Given the description of an element on the screen output the (x, y) to click on. 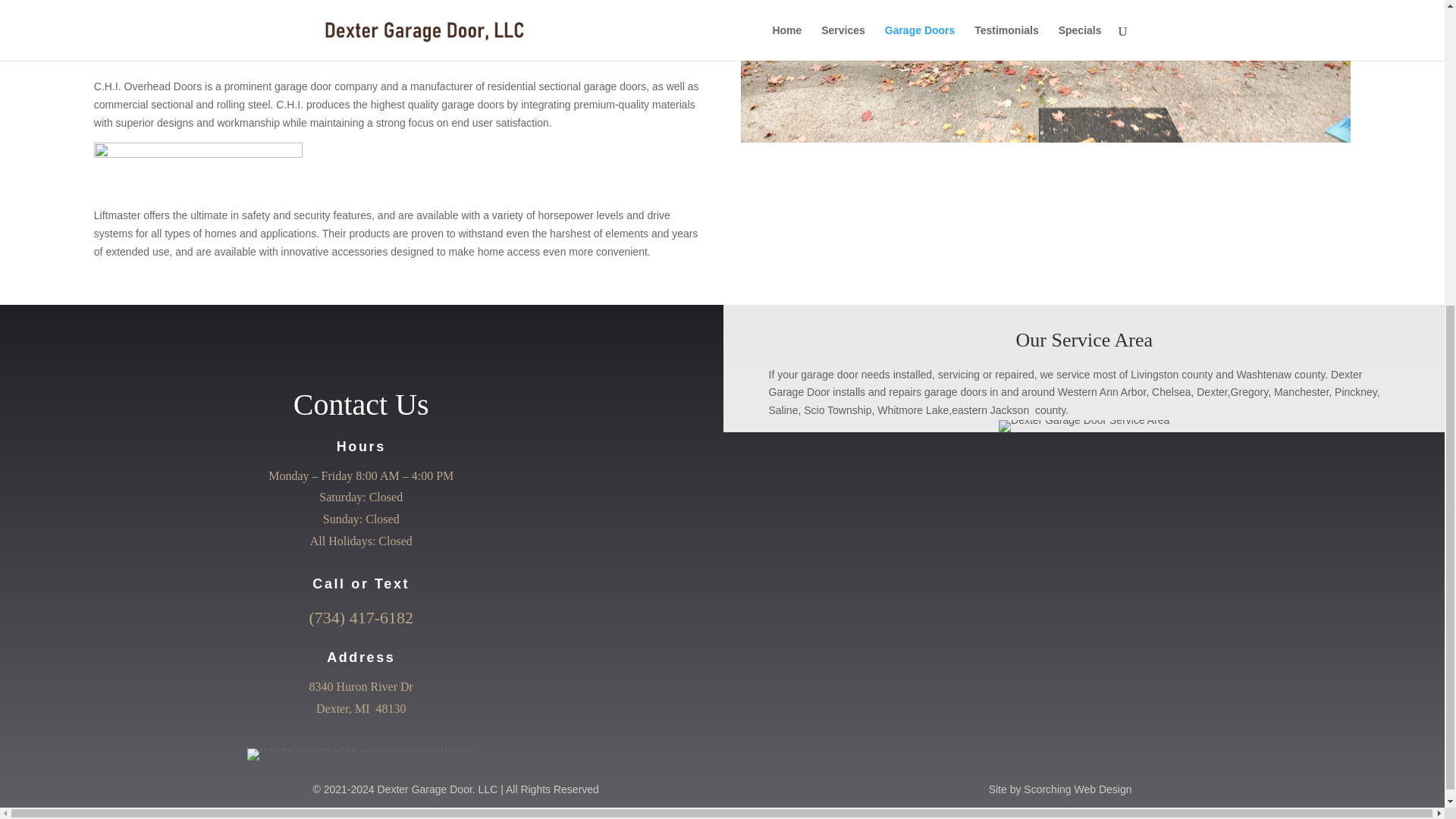
broken-garage-door-spring (360, 754)
Ann-Arbor-Garage Doors (1046, 138)
Dexter-Garage-Door-Repair-Service-Area (1083, 426)
Scorching Web Design (1077, 788)
